Given the description of an element on the screen output the (x, y) to click on. 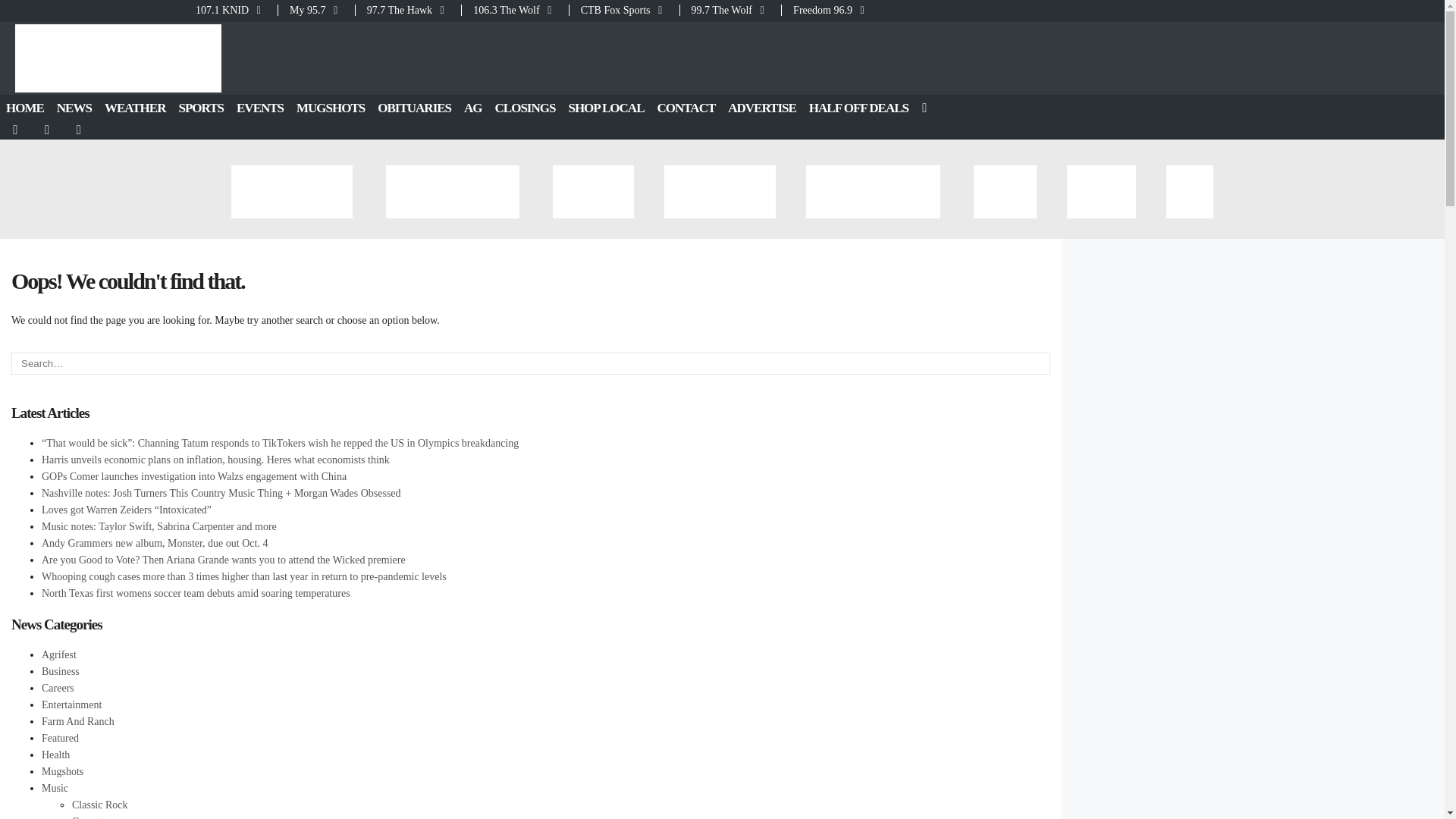
Follow us on X (48, 129)
Follow us on Instagram (80, 129)
Follow us on Facebook (16, 129)
107.1 KNID (235, 9)
My 95.7 (316, 9)
